Given the description of an element on the screen output the (x, y) to click on. 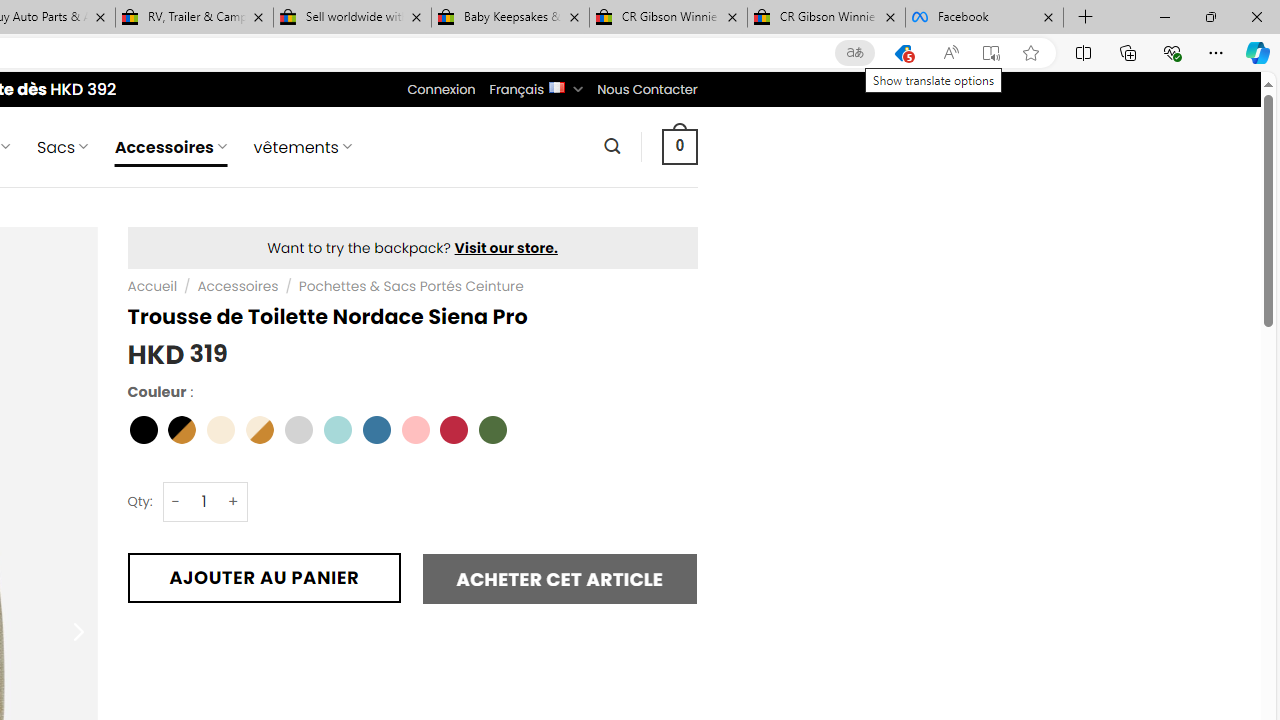
Sell worldwide with eBay (352, 17)
